Given the description of an element on the screen output the (x, y) to click on. 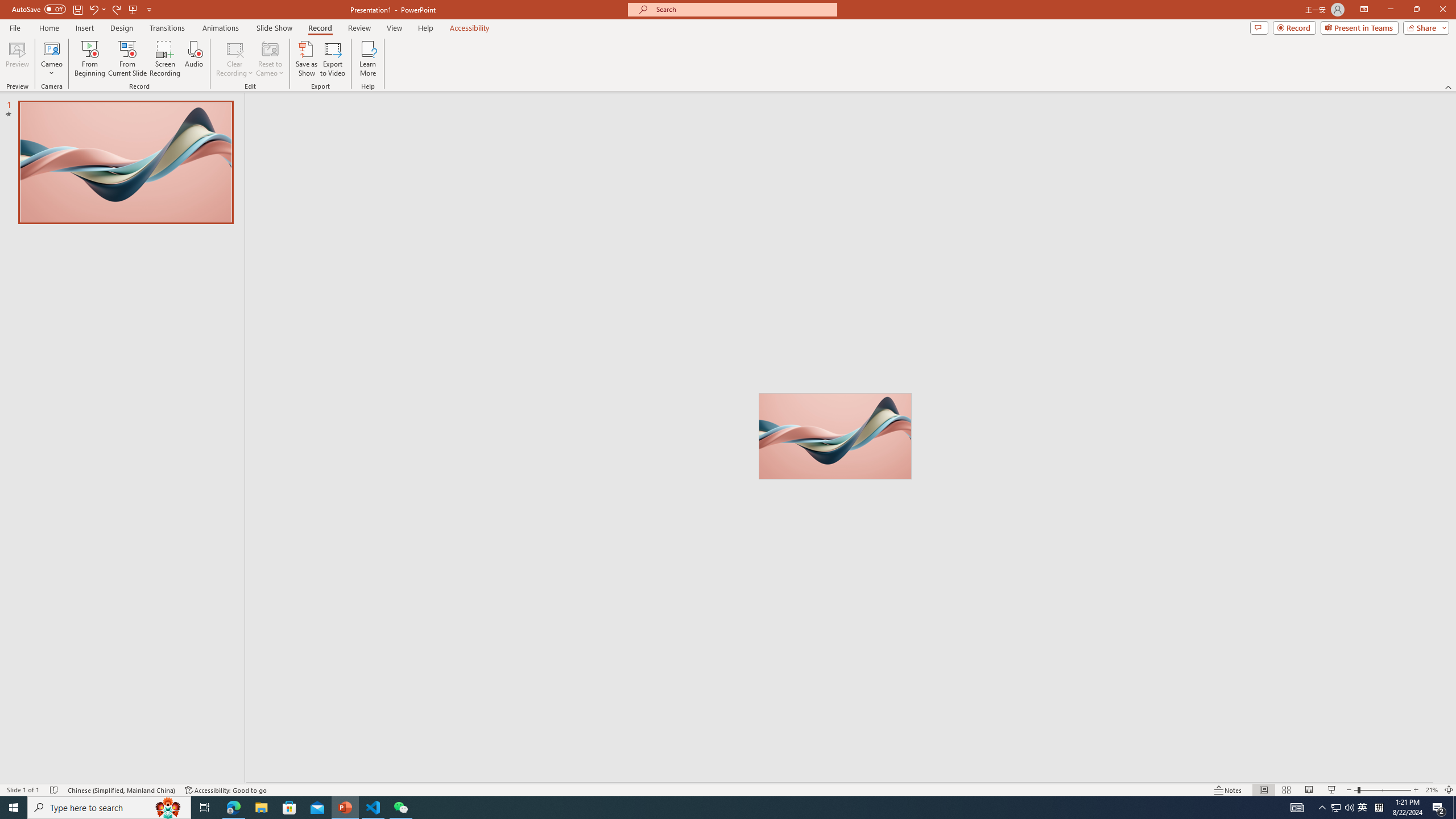
Export to Video (332, 58)
Screen Recording (165, 58)
Clear Recording (234, 58)
